Given the description of an element on the screen output the (x, y) to click on. 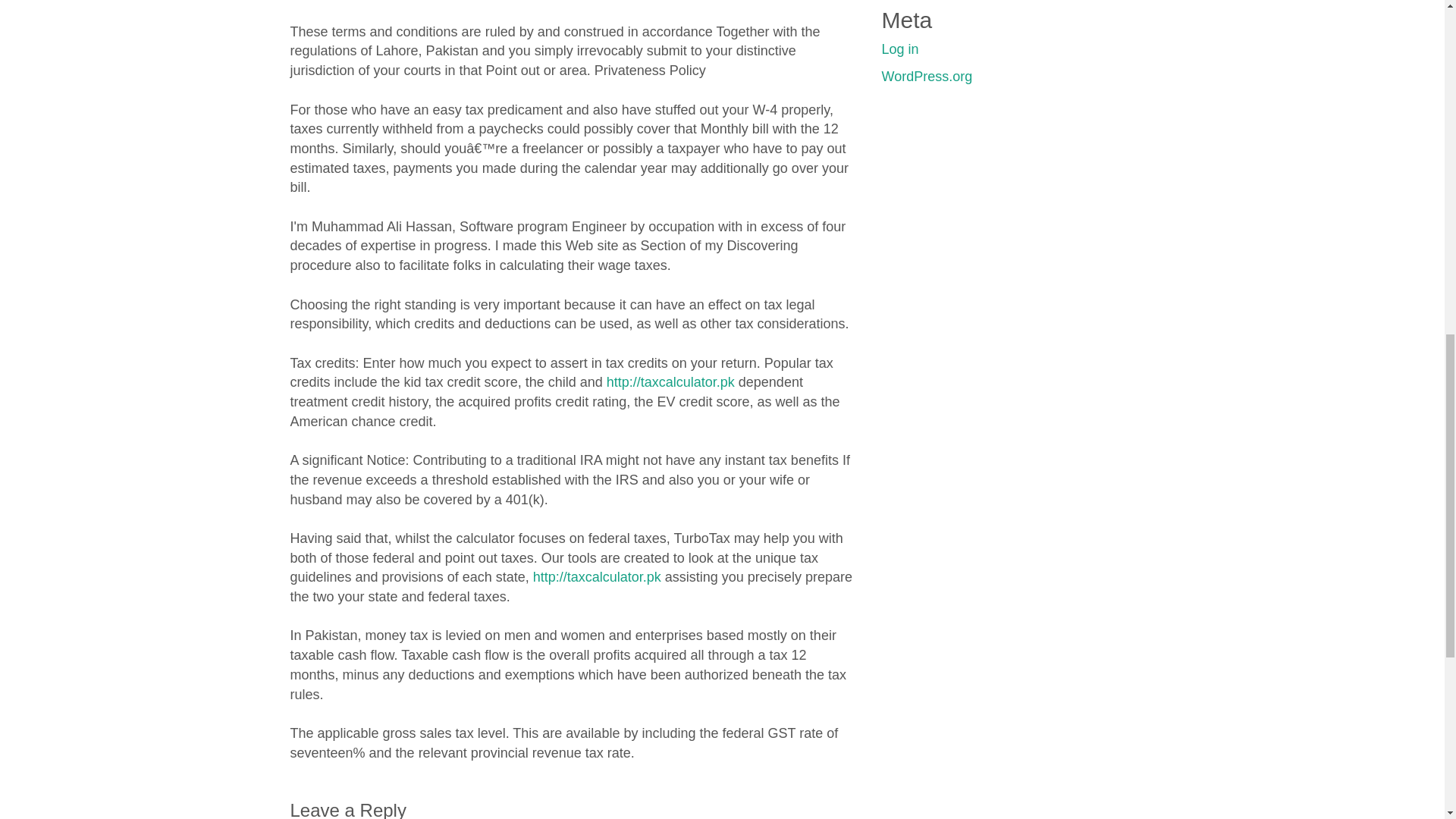
WordPress.org (926, 76)
Log in (899, 48)
